Given the description of an element on the screen output the (x, y) to click on. 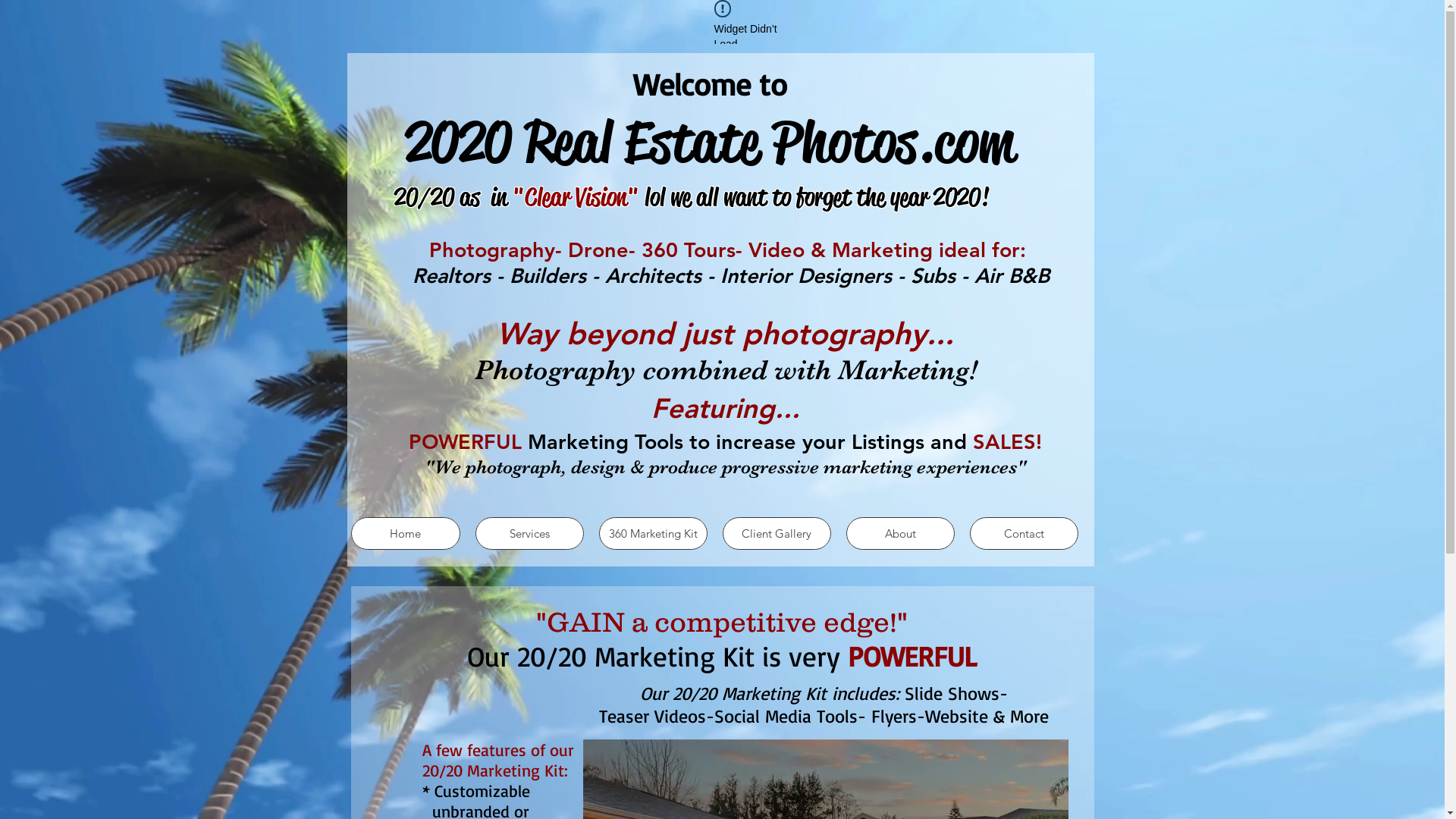
Home Element type: text (404, 533)
Contact Element type: text (1023, 533)
Client Gallery Element type: text (775, 533)
Services Element type: text (528, 533)
360 Marketing Kit Element type: text (653, 533)
About Element type: text (900, 533)
